Given the description of an element on the screen output the (x, y) to click on. 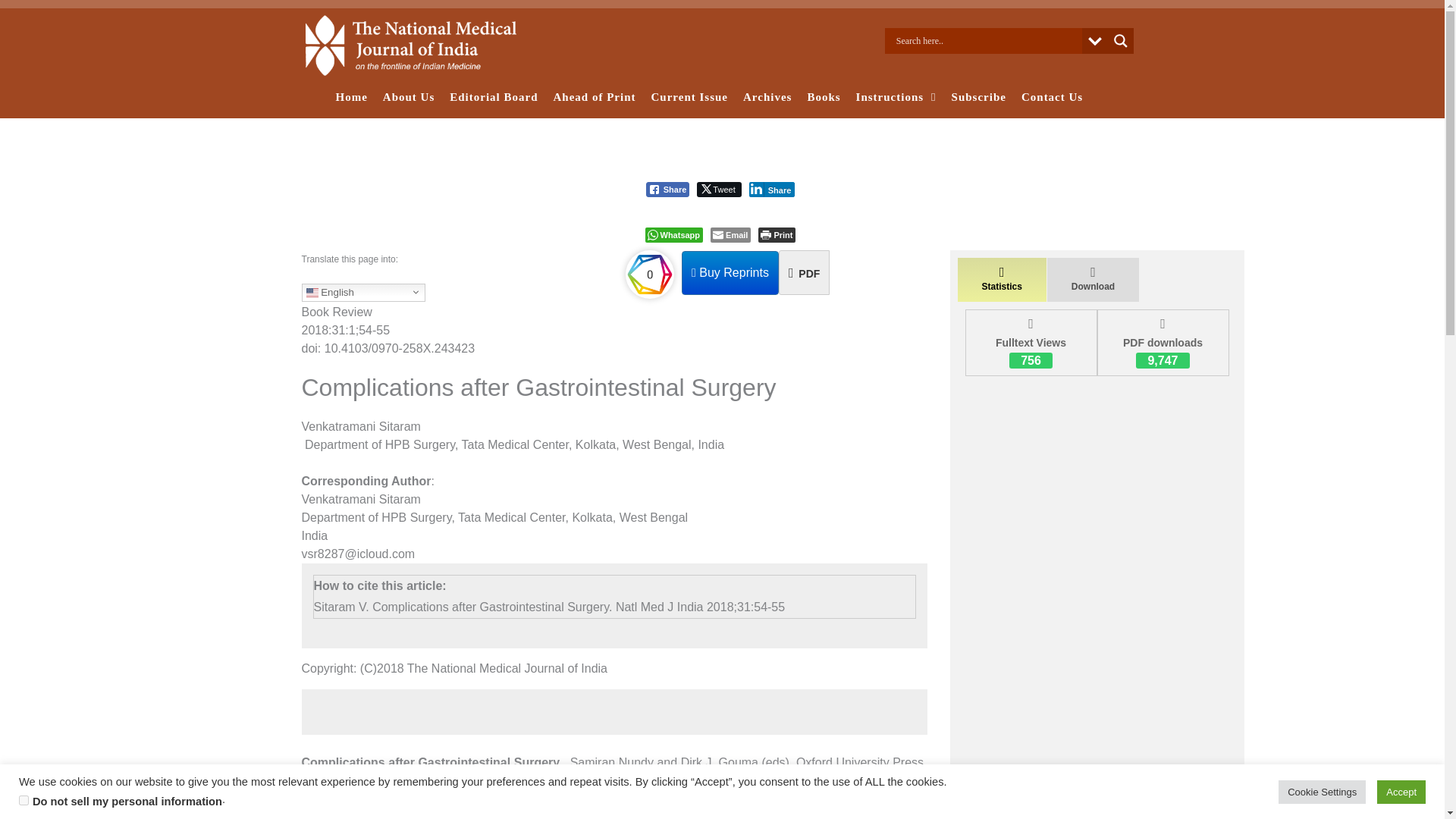
Editorial Board (493, 96)
on (23, 800)
Books (823, 96)
About Us (408, 96)
Current Issue (689, 96)
Home (350, 96)
Archives (767, 96)
Subscribe (978, 96)
Instructions (895, 96)
Contact Us (1051, 96)
Ahead of Print (594, 96)
